Given the description of an element on the screen output the (x, y) to click on. 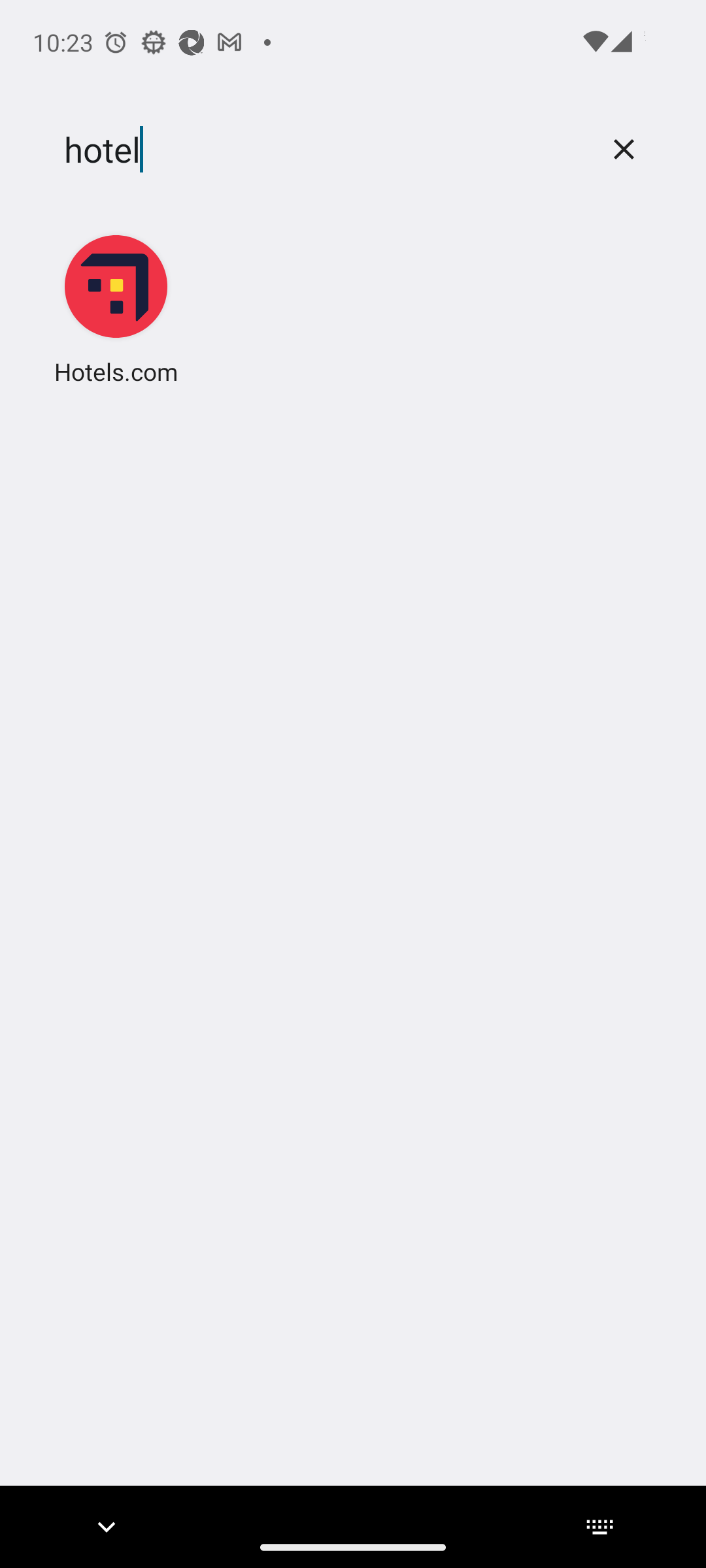
hotel (321, 149)
Clear search box (623, 149)
Hotels.com (115, 308)
